Given the description of an element on the screen output the (x, y) to click on. 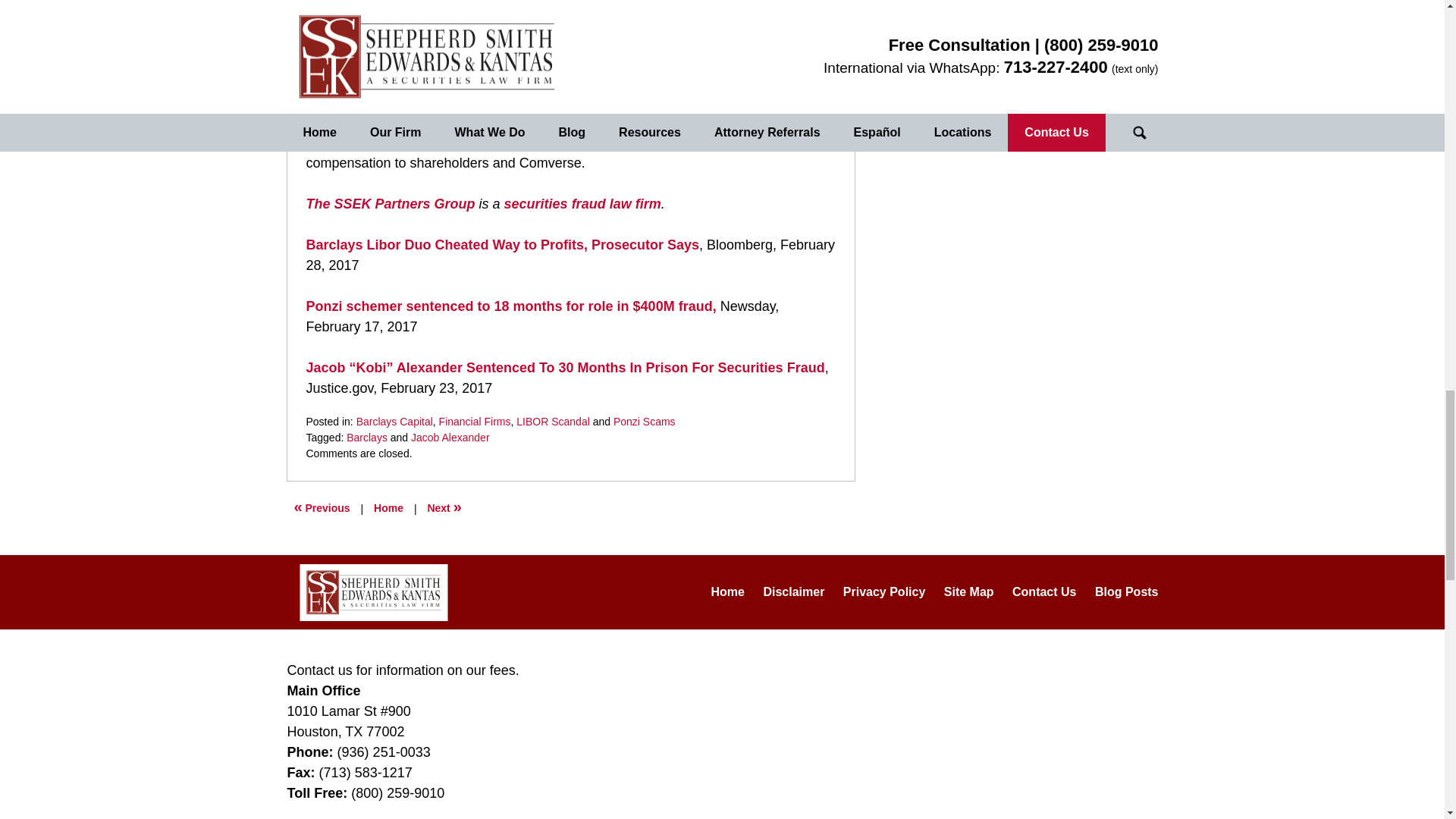
View all posts tagged with Jacob Alexander (449, 437)
View all posts tagged with Barclays (366, 437)
View all posts in Barclays Capital (394, 421)
View all posts in Financial Firms (475, 421)
View all posts in Ponzi Scams (643, 421)
View all posts in LIBOR Scandal (552, 421)
